Given the description of an element on the screen output the (x, y) to click on. 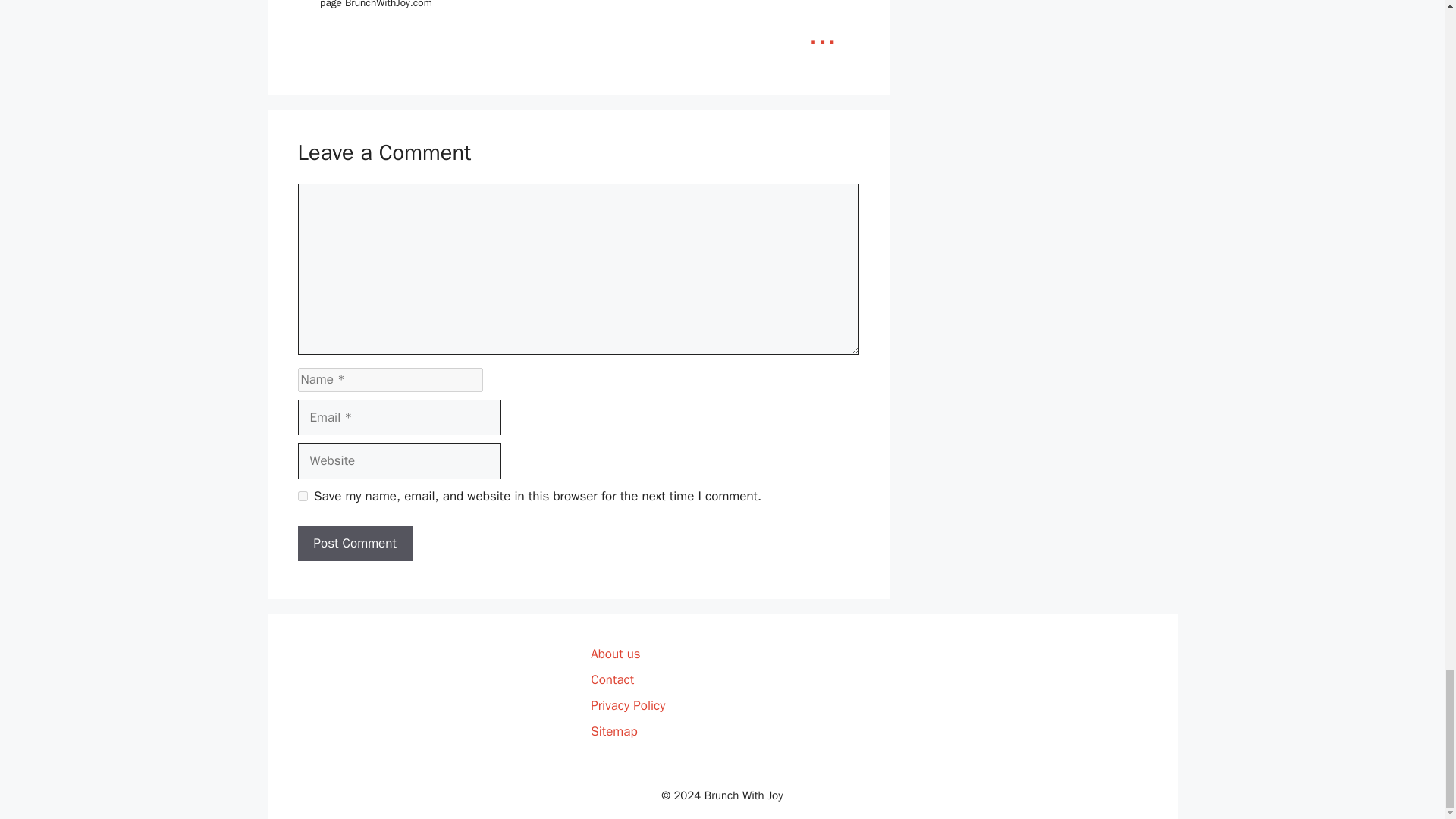
Post Comment (354, 543)
yes (302, 496)
Read more (821, 33)
